Given the description of an element on the screen output the (x, y) to click on. 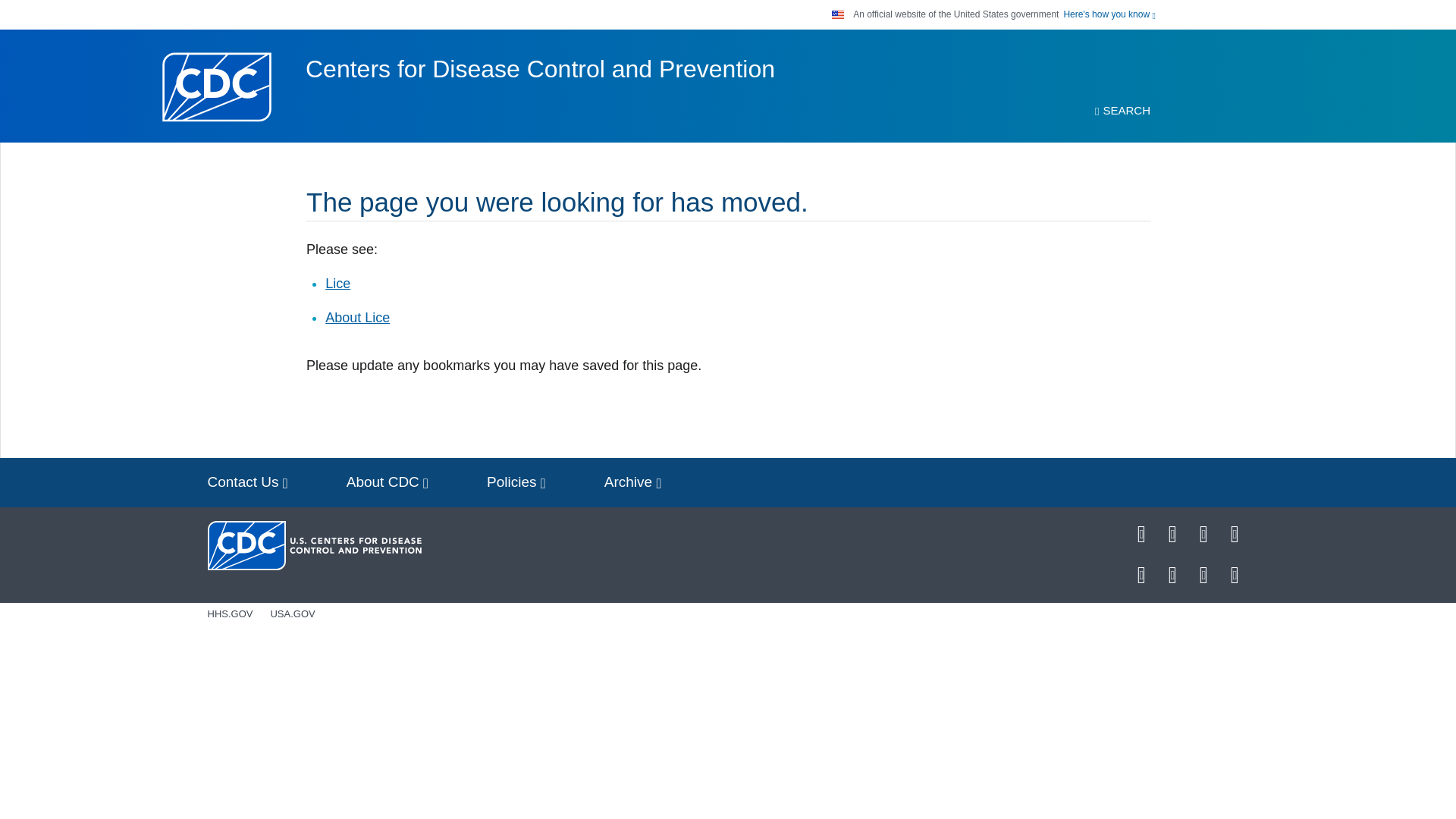
Policies (516, 481)
Centers for Disease Control and Prevention (539, 68)
About CDC (387, 481)
About Lice (357, 317)
Lice (337, 283)
SEARCH (1122, 110)
Here's how you know (1108, 14)
Contact Us (247, 481)
